Given the description of an element on the screen output the (x, y) to click on. 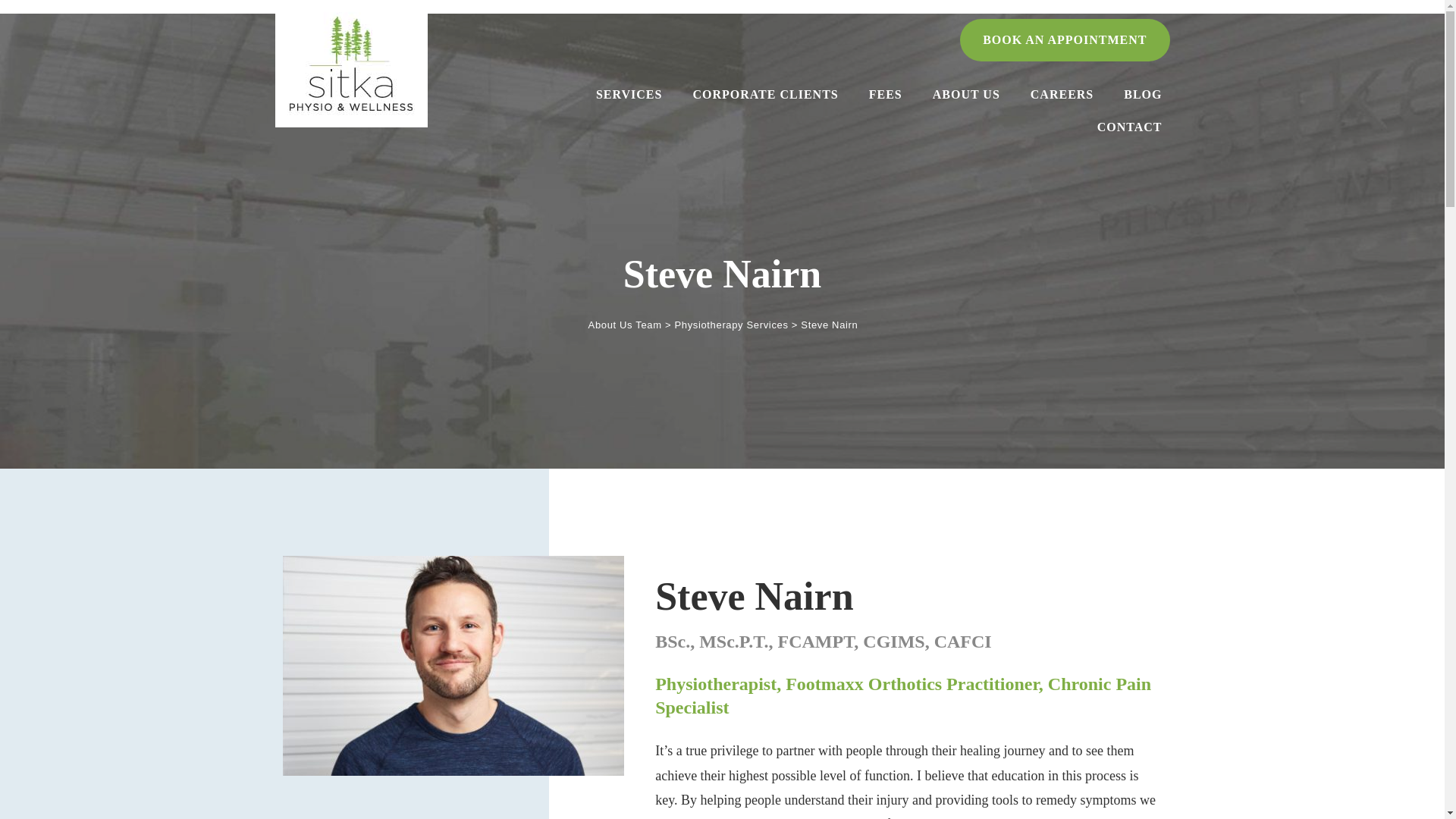
SERVICES (628, 96)
CORPORATE CLIENTS (764, 96)
CONTACT (1129, 127)
BOOK AN APPOINTMENT (1064, 39)
BLOG (1142, 94)
FEES (885, 94)
CAREERS (1061, 94)
ABOUT US (965, 94)
